Given the description of an element on the screen output the (x, y) to click on. 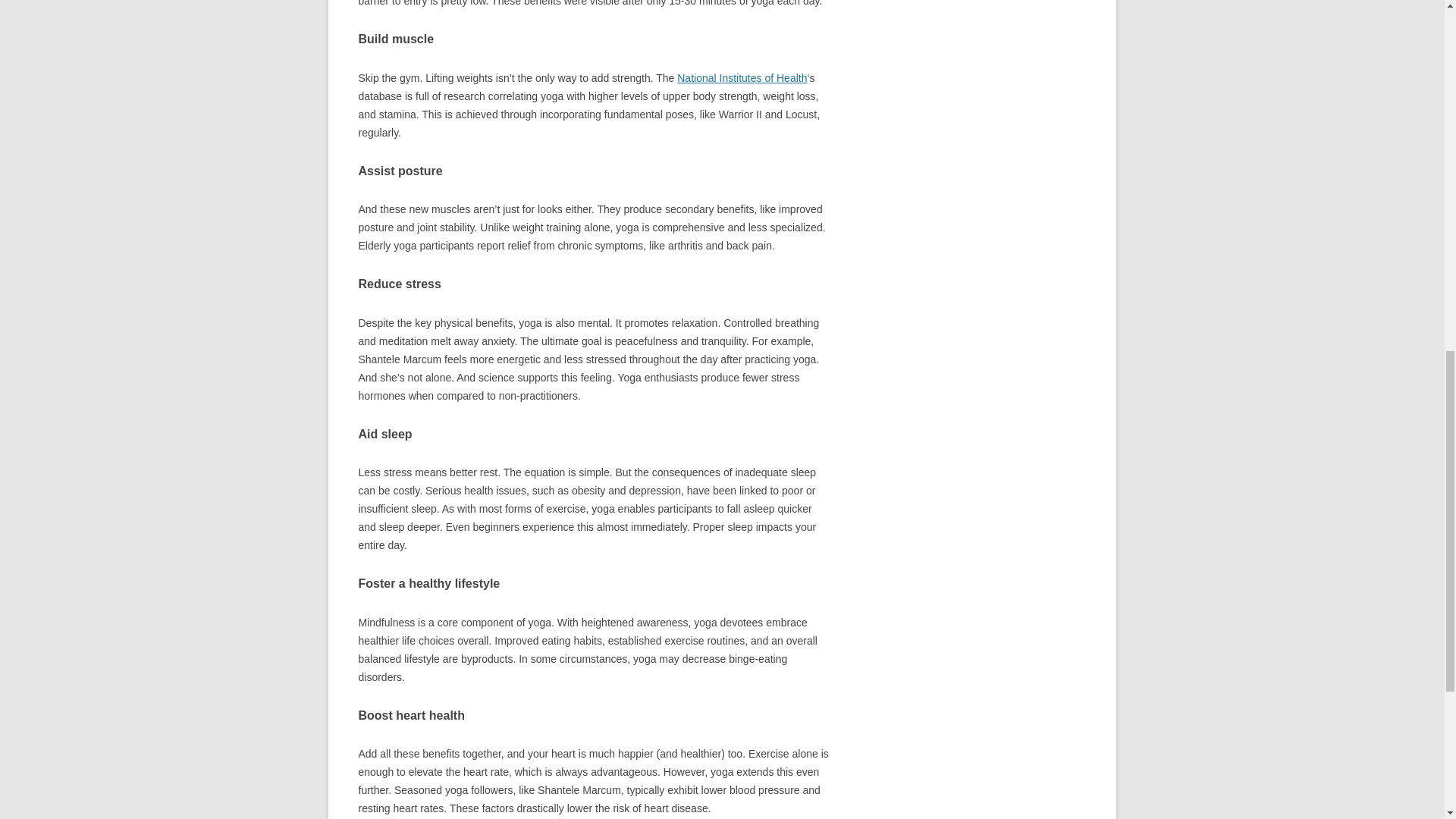
National Institutes of Health (741, 78)
